Given the description of an element on the screen output the (x, y) to click on. 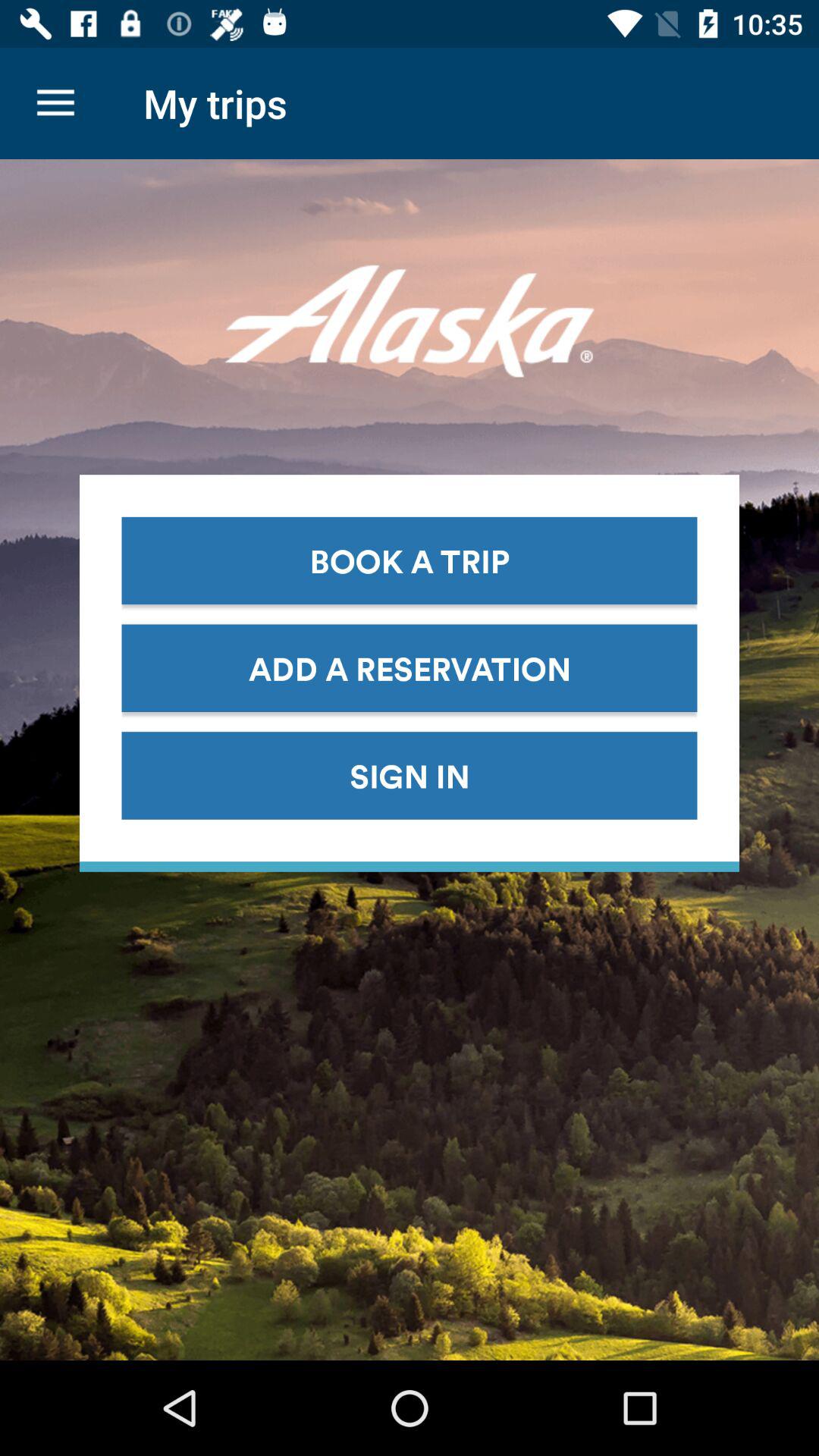
turn off item below book a trip icon (409, 668)
